Given the description of an element on the screen output the (x, y) to click on. 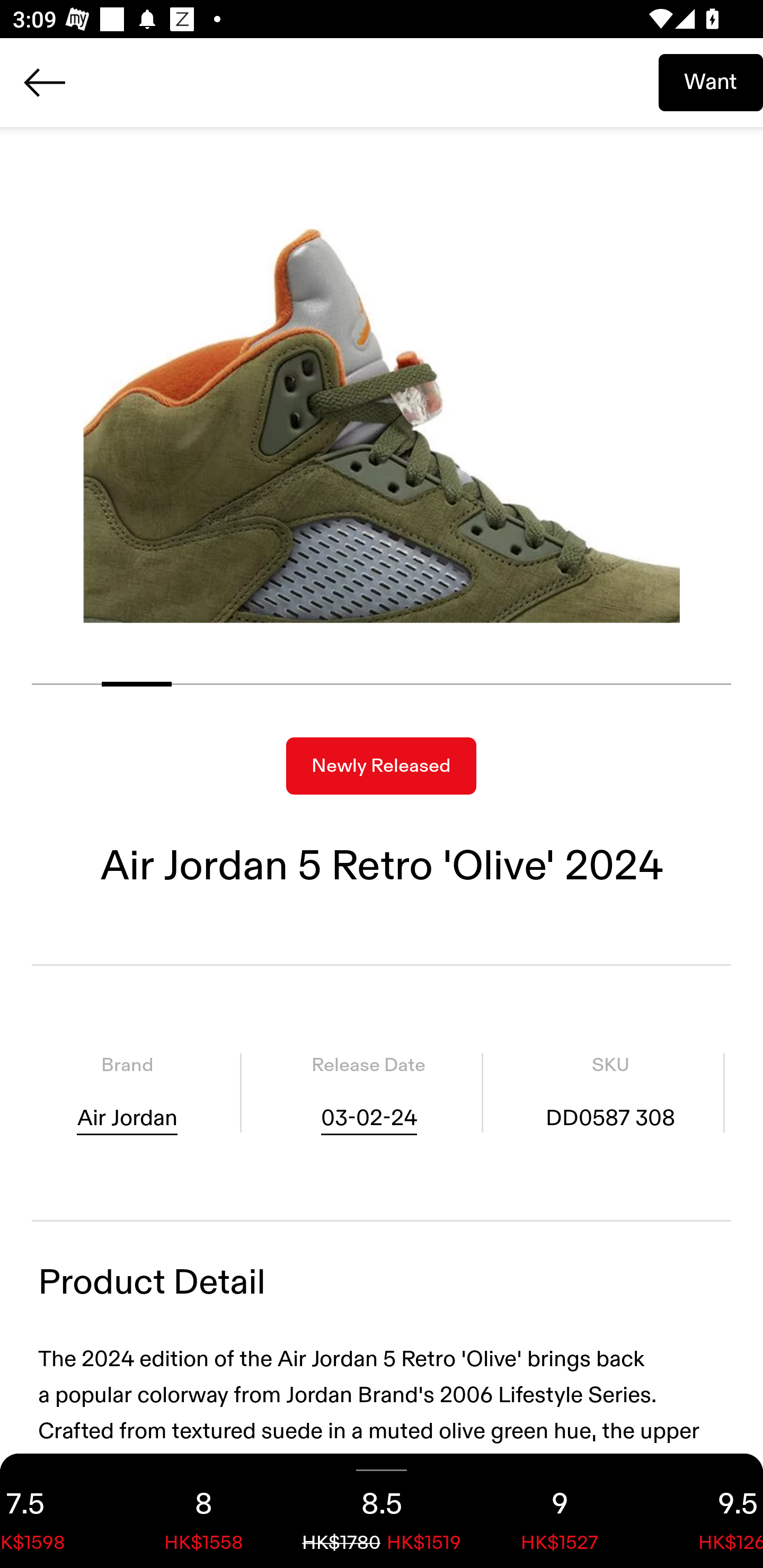
Want (710, 82)
Newly Released (381, 765)
Brand Air Jordan (126, 1092)
Release Date 03-02-24 (368, 1092)
SKU DD0587 308 (609, 1092)
7.5 HK$1598 (57, 1510)
8 HK$1558 (203, 1510)
8.5 HK$1780 HK$1519 (381, 1510)
9 HK$1527 (559, 1510)
9.5 HK$1266 (705, 1510)
